Given the description of an element on the screen output the (x, y) to click on. 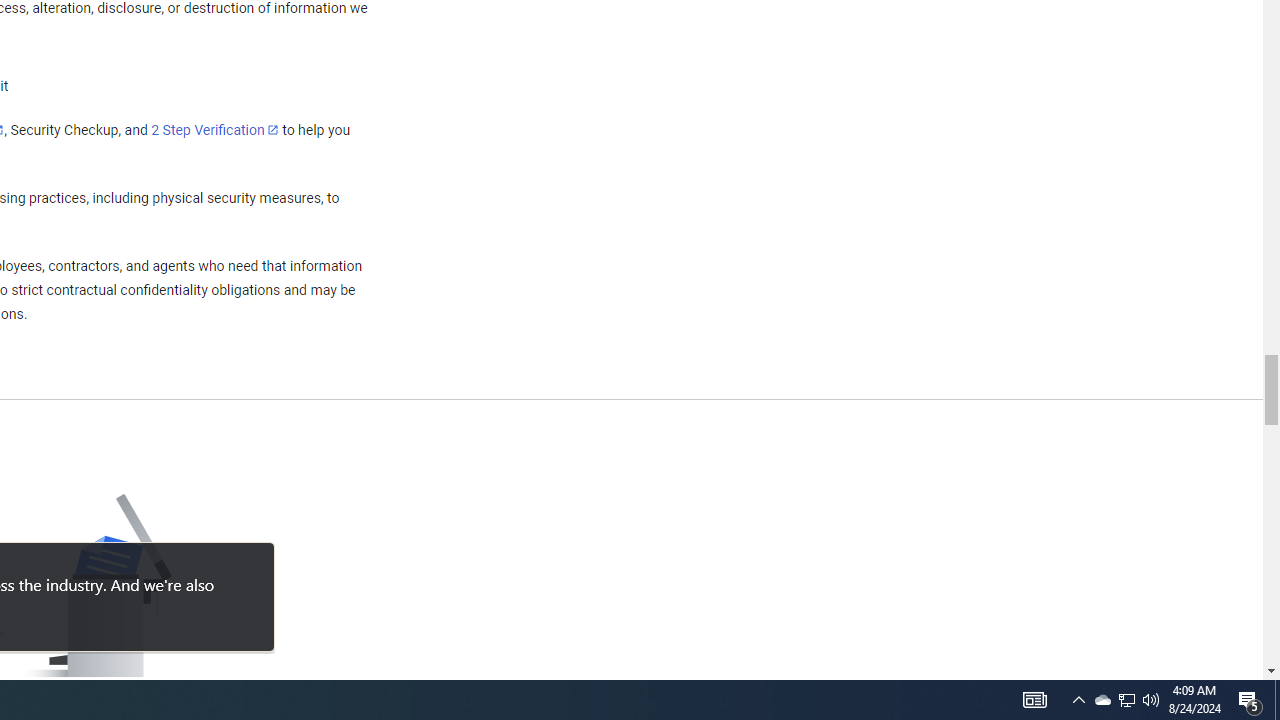
2 Step Verification (215, 129)
